Given the description of an element on the screen output the (x, y) to click on. 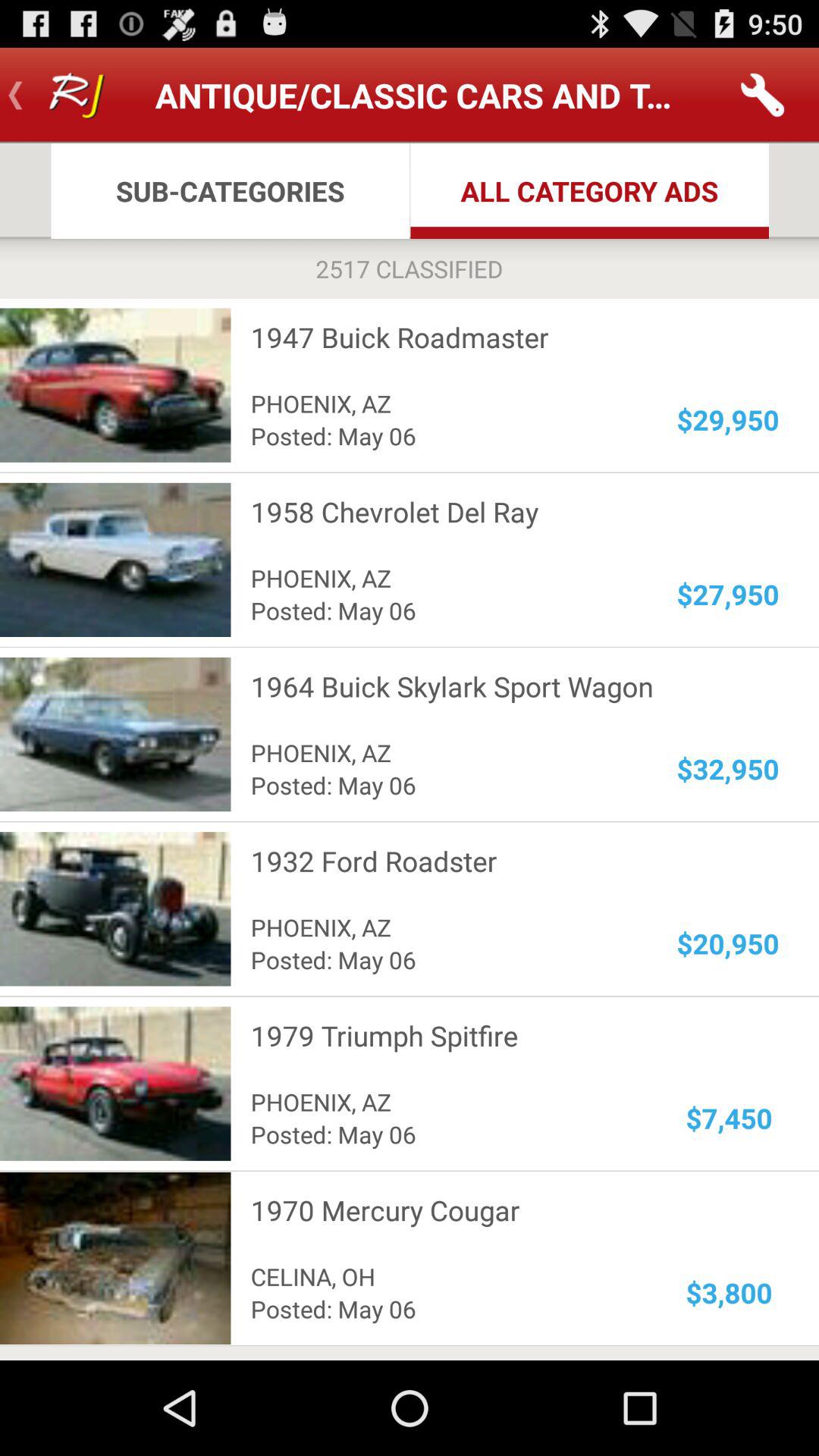
tap icon below the 1979 triumph spitfire (729, 1117)
